Given the description of an element on the screen output the (x, y) to click on. 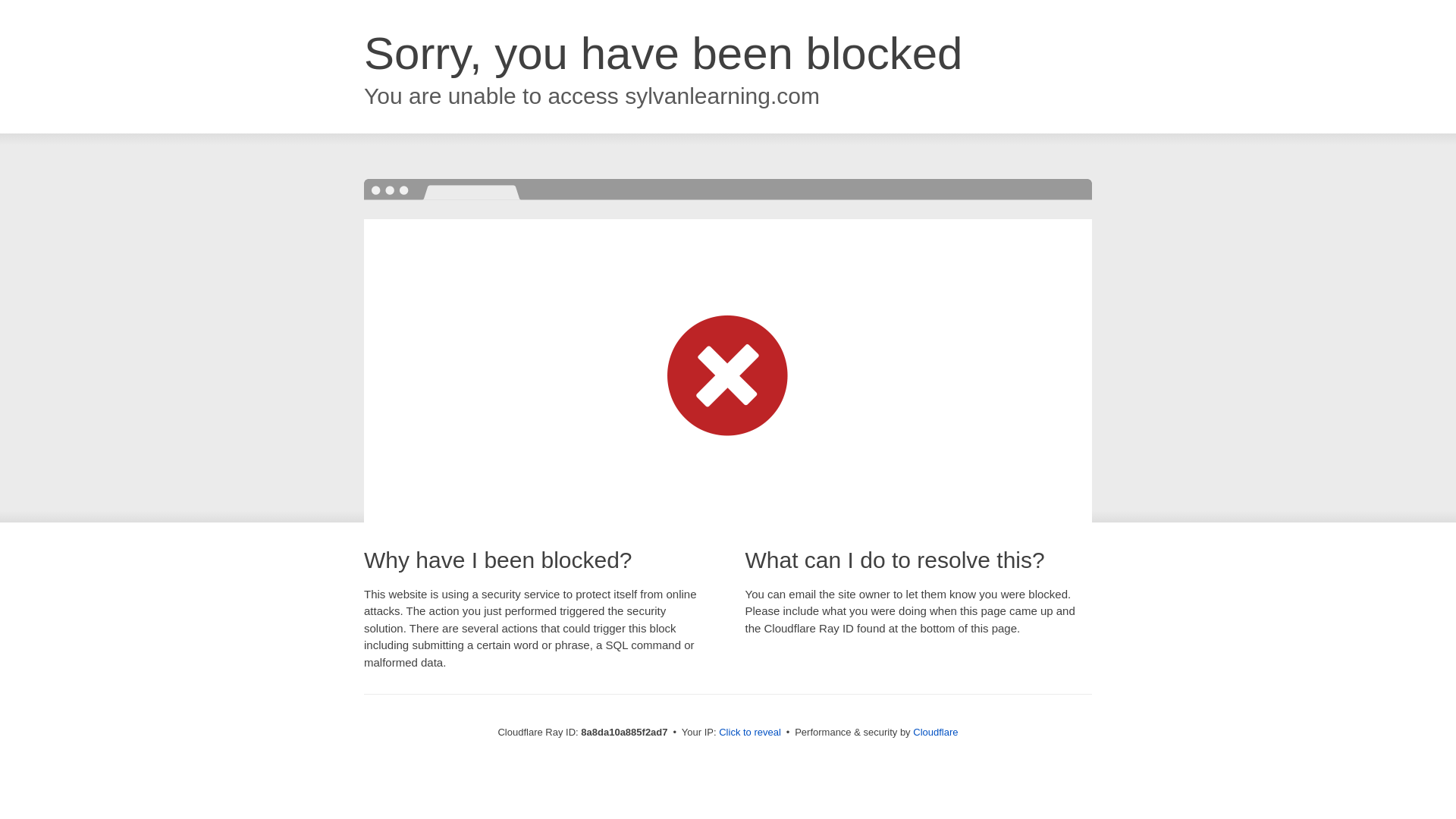
Cloudflare (935, 731)
Click to reveal (749, 732)
